Given the description of an element on the screen output the (x, y) to click on. 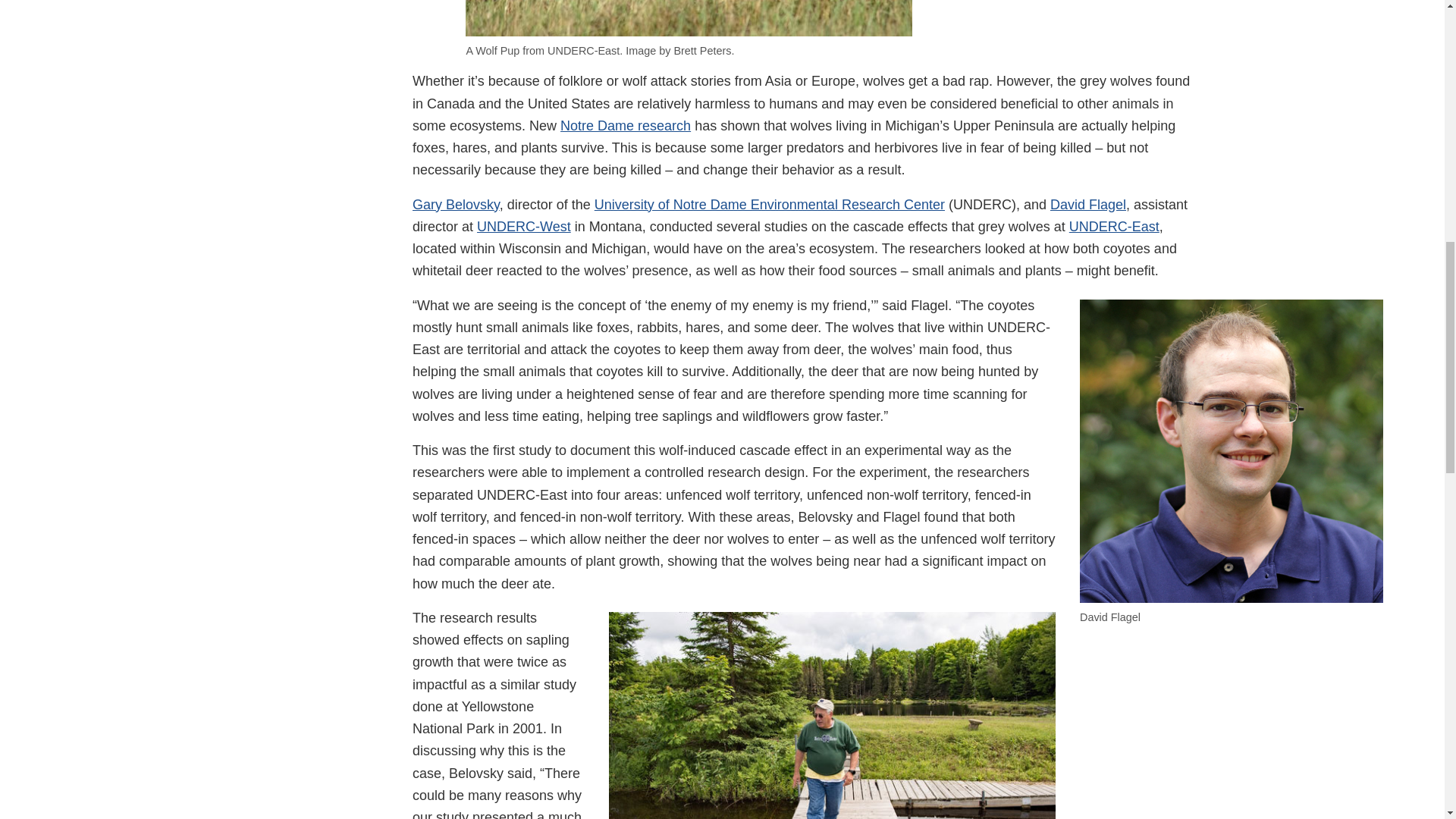
Notre Dame research (625, 125)
